Given the description of an element on the screen output the (x, y) to click on. 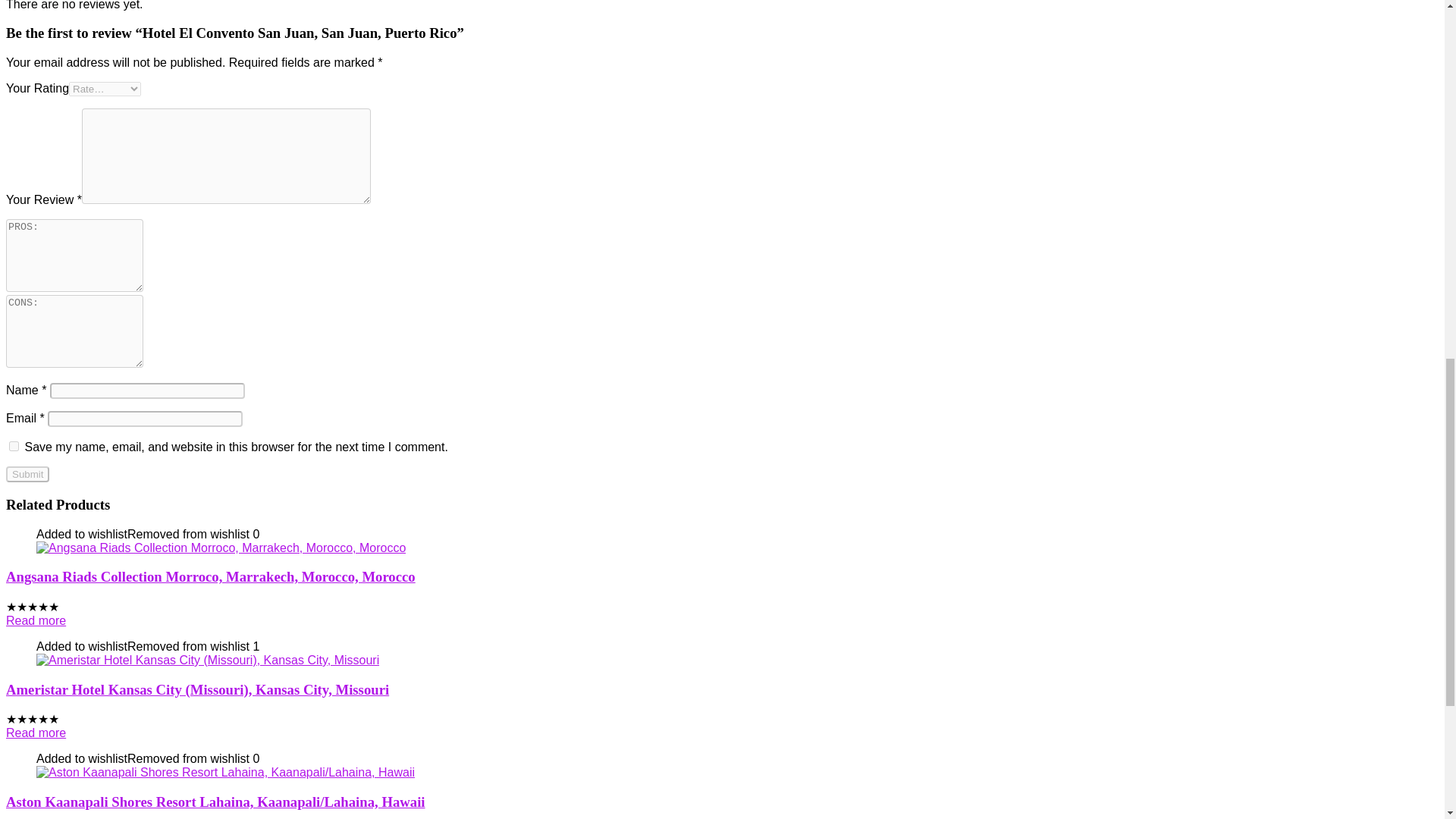
Read more (35, 620)
Read more (35, 732)
yes (13, 446)
Submit (27, 474)
Submit (27, 474)
